Given the description of an element on the screen output the (x, y) to click on. 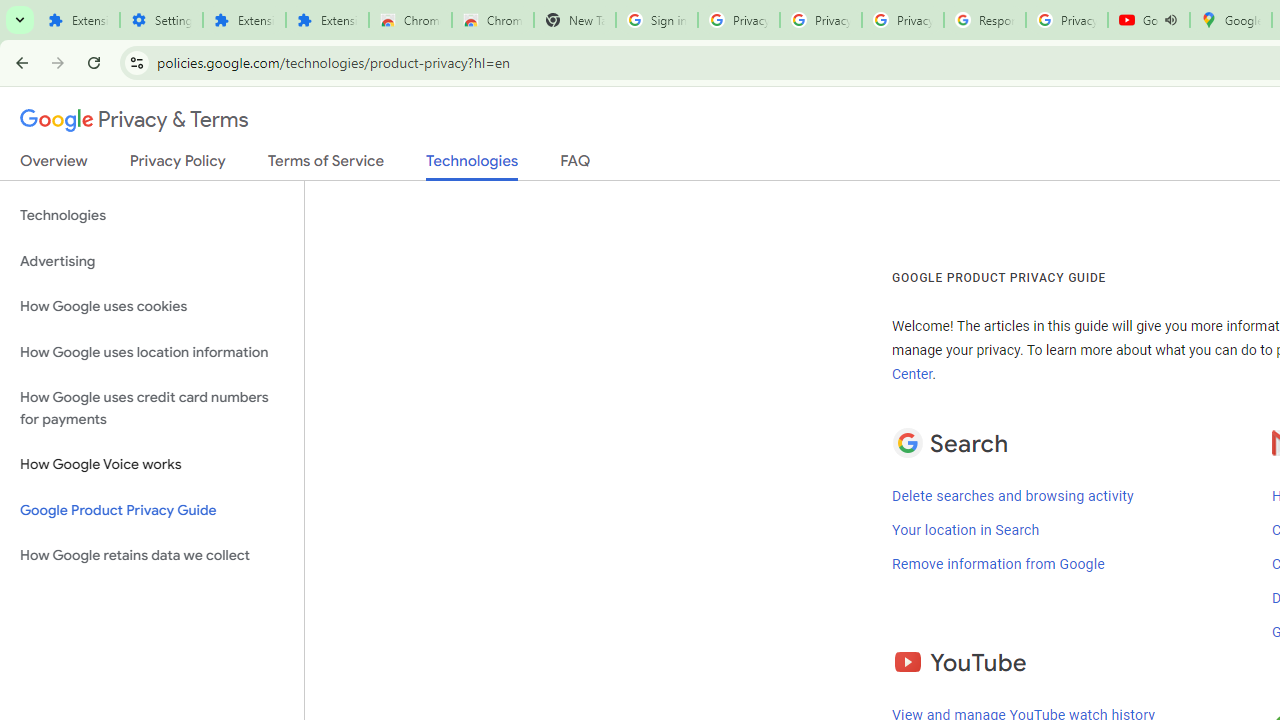
Chrome Web Store - Themes (492, 20)
New Tab (574, 20)
How Google uses location information (152, 352)
Delete searches and browsing activity (1013, 495)
Advertising (152, 261)
Remove information from Google (998, 564)
How Google uses credit card numbers for payments (152, 408)
